Given the description of an element on the screen output the (x, y) to click on. 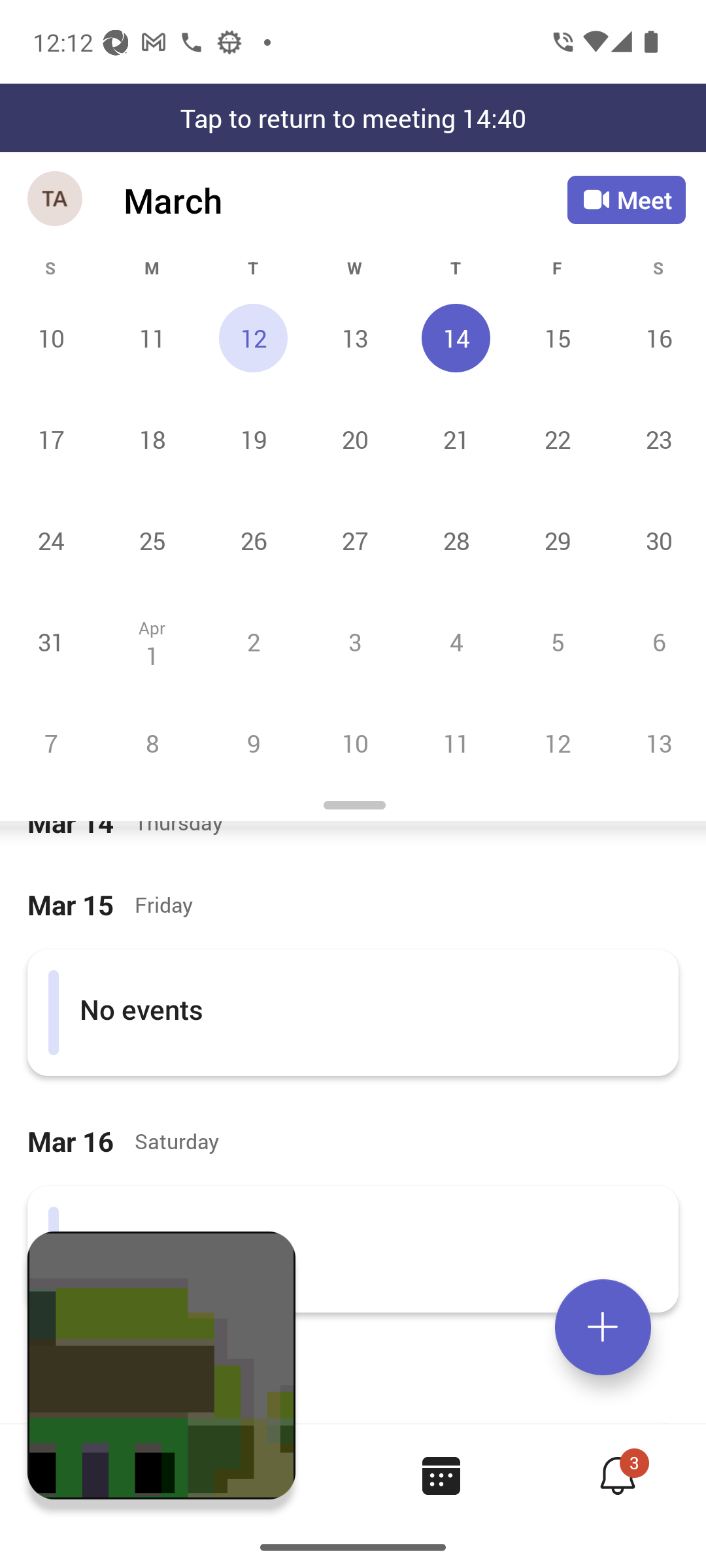
Tap to return to meeting 14:40 (353, 117)
Navigation (56, 199)
Meet Meet now or join with an ID (626, 199)
March March Calendar Agenda View (345, 199)
Sunday, March 10 10 (50, 337)
Monday, March 11 11 (151, 337)
Tuesday, March 12, Today 12 (253, 337)
Wednesday, March 13 13 (354, 337)
Thursday, March 14, Selected 14 (455, 337)
Friday, March 15 15 (556, 337)
Saturday, March 16 16 (656, 337)
Sunday, March 17 17 (50, 438)
Monday, March 18 18 (151, 438)
Tuesday, March 19 19 (253, 438)
Wednesday, March 20 20 (354, 438)
Thursday, March 21 21 (455, 438)
Friday, March 22 22 (556, 438)
Saturday, March 23 23 (656, 438)
Sunday, March 24 24 (50, 540)
Monday, March 25 25 (151, 540)
Tuesday, March 26 26 (253, 540)
Wednesday, March 27 27 (354, 540)
Thursday, March 28 28 (455, 540)
Friday, March 29 29 (556, 540)
Saturday, March 30 30 (656, 540)
Sunday, March 31 31 (50, 642)
Monday, April 1 Apr 1 (151, 642)
Tuesday, April 2 2 (253, 642)
Wednesday, April 3 3 (354, 642)
Thursday, April 4 4 (455, 642)
Friday, April 5 5 (556, 642)
Saturday, April 6 6 (656, 642)
Sunday, April 7 7 (50, 743)
Monday, April 8 8 (151, 743)
Tuesday, April 9 9 (253, 743)
Wednesday, April 10 10 (354, 743)
Thursday, April 11 11 (455, 743)
Friday, April 12 12 (556, 743)
Saturday, April 13 13 (656, 743)
Expand meetings menu (602, 1327)
Calendar tab, 3 of 4 (441, 1475)
Activity tab,4 of 4, not selected, 3 new 3 (617, 1475)
